Given the description of an element on the screen output the (x, y) to click on. 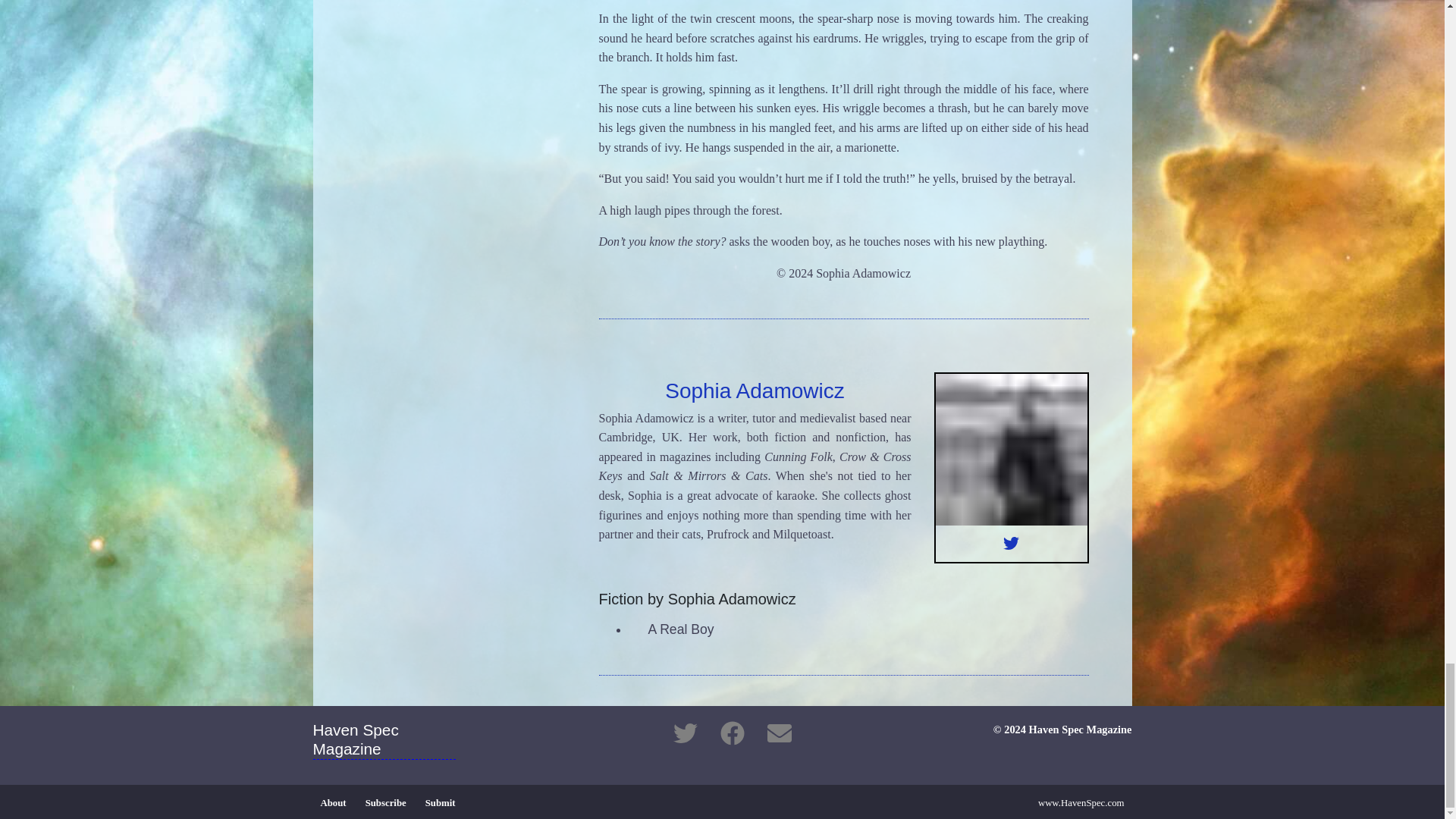
Subscribe (385, 802)
Sophia Adamowicz (754, 390)
About (333, 802)
Submit (440, 802)
www.HavenSpec.com (1081, 802)
Haven Spec Magazine (391, 743)
